Given the description of an element on the screen output the (x, y) to click on. 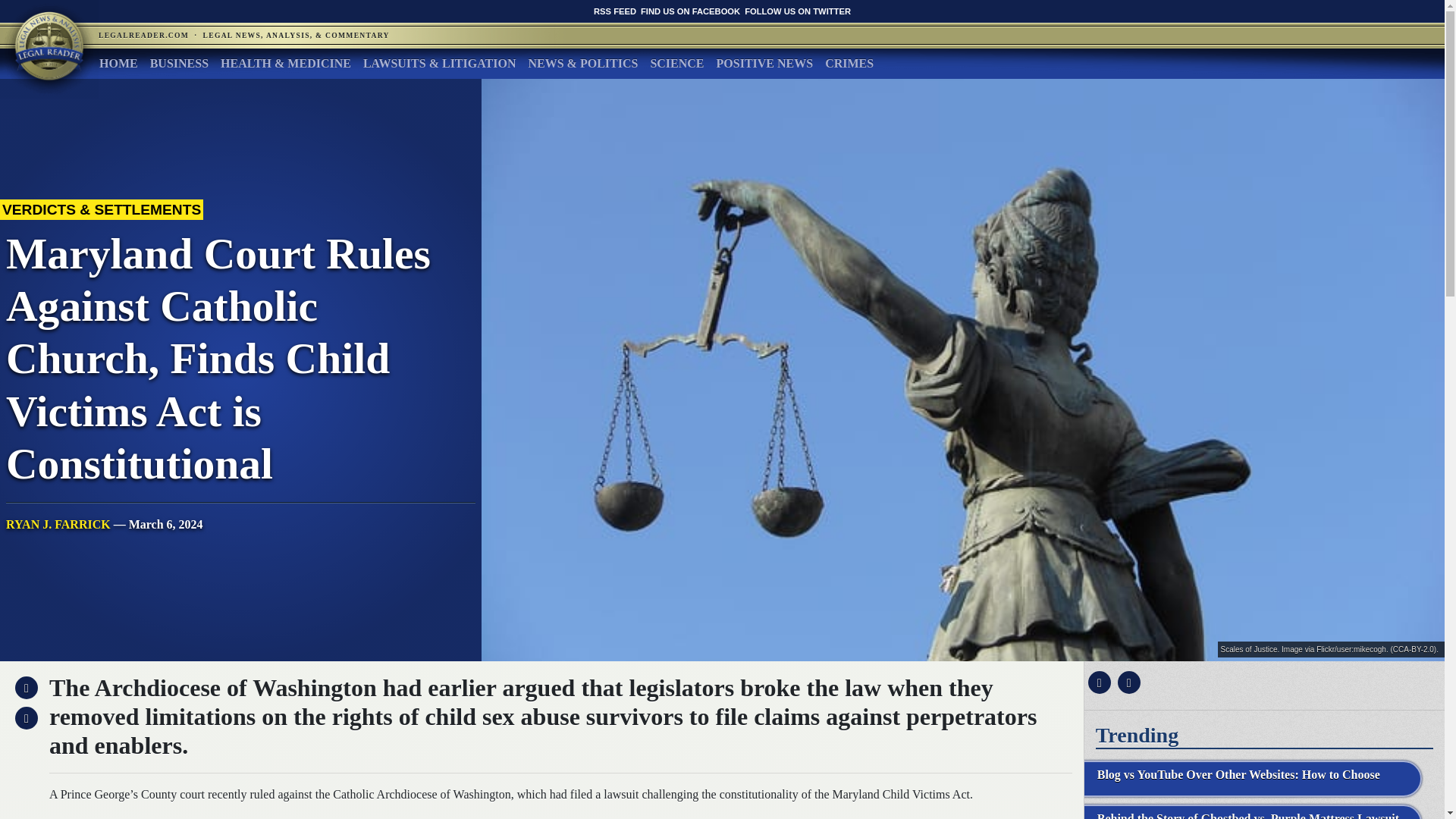
BUSINESS (179, 63)
Science (676, 63)
Share on twitter (1126, 682)
Find Legal Reader on Facebook (689, 10)
Follow Legal Reader on Twitter (797, 10)
RYAN J. FARRICK (57, 523)
HOME (118, 63)
FOLLOW US ON TWITTER (797, 10)
RSS FEED (615, 10)
Crimes (848, 63)
